Given the description of an element on the screen output the (x, y) to click on. 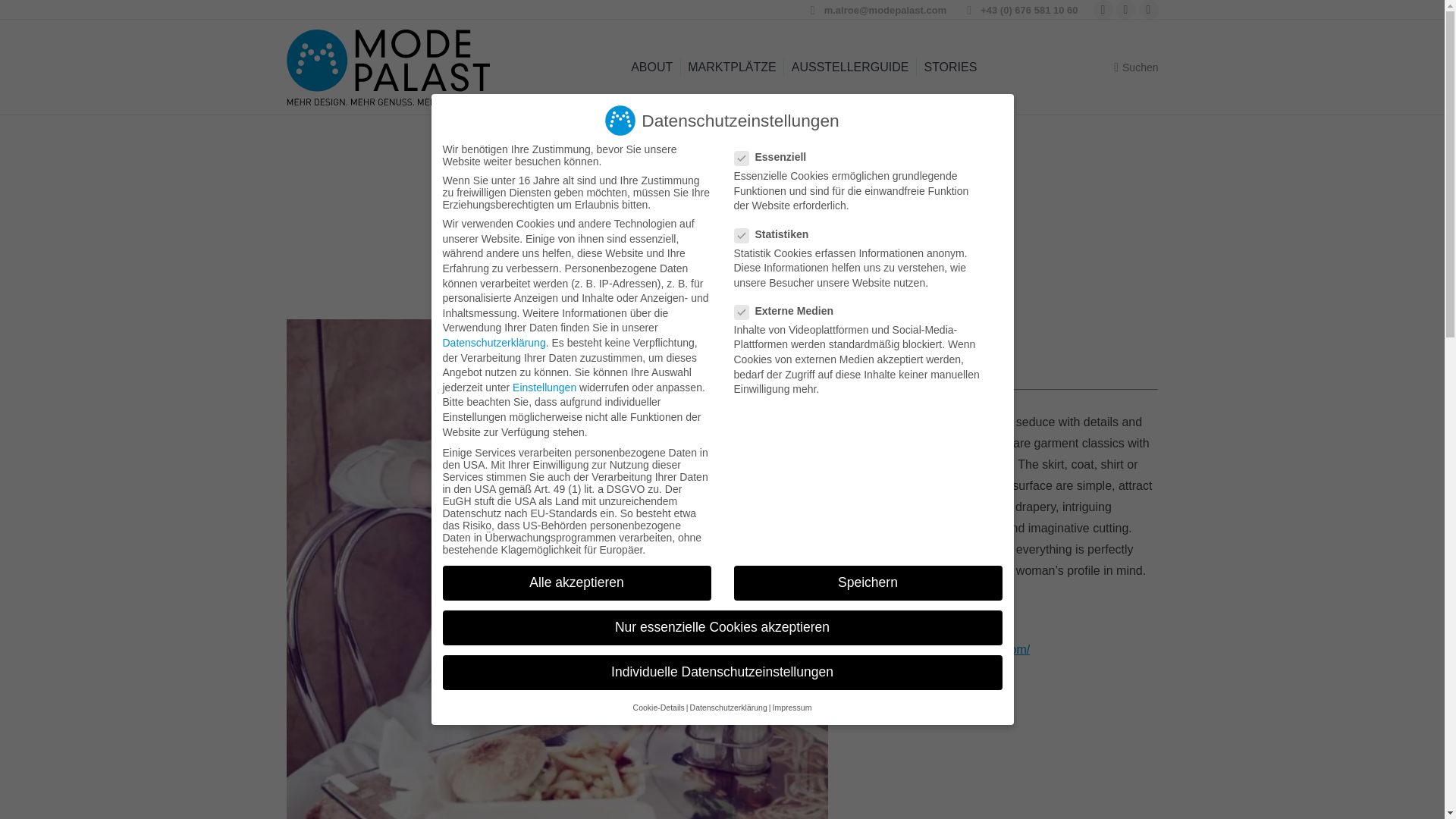
Facebook page opens in new window (1103, 9)
Suchen (1135, 67)
Twitter page opens in new window (1125, 9)
Los! (26, 16)
Instagram page opens in new window (1148, 9)
Twitter page opens in new window (1125, 9)
Facebook page opens in new window (1103, 9)
AUSSTELLERGUIDE (850, 66)
Instagram page opens in new window (1148, 9)
